Given the description of an element on the screen output the (x, y) to click on. 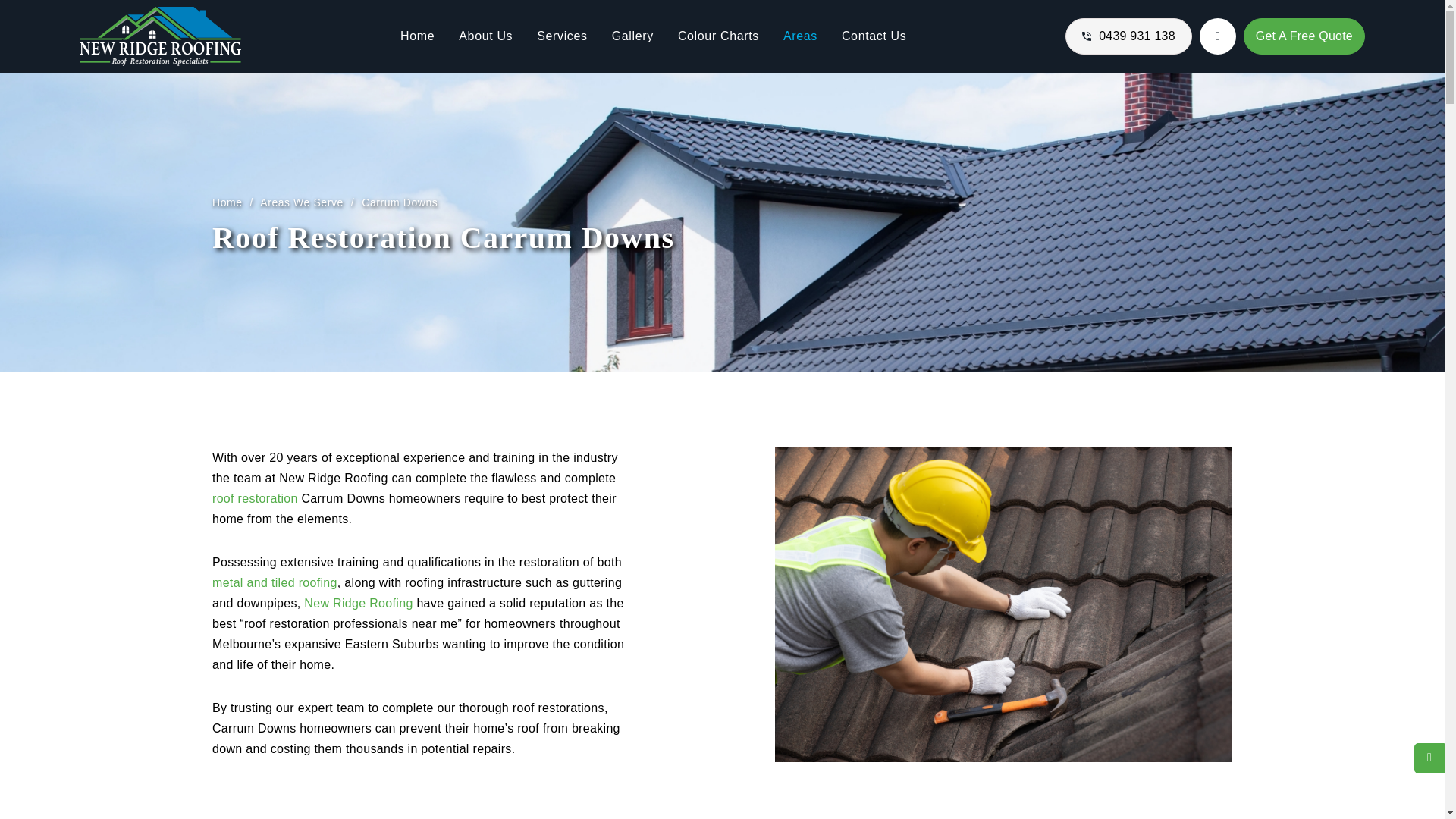
Home (416, 36)
About Us (485, 36)
Gallery (632, 36)
Colour Charts (718, 36)
Areas (799, 36)
Services (561, 36)
